Given the description of an element on the screen output the (x, y) to click on. 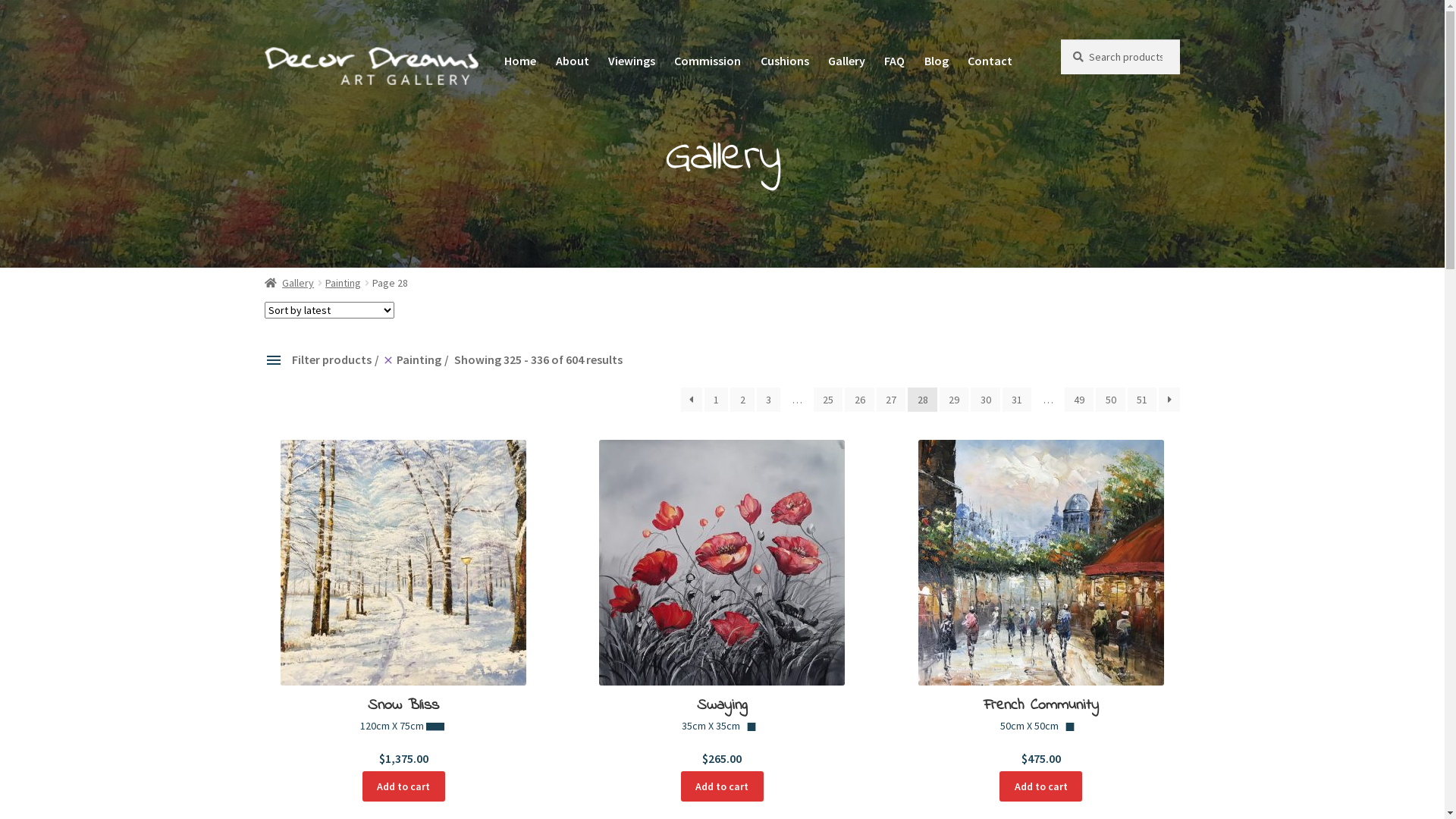
27 Element type: text (891, 399)
30 Element type: text (985, 399)
Add to cart Element type: text (1040, 786)
Contact Element type: text (989, 61)
29 Element type: text (954, 399)
Gallery Element type: text (846, 61)
49 Element type: text (1079, 399)
1 Element type: text (716, 399)
Painting Element type: text (342, 282)
51 Element type: text (1142, 399)
Home Element type: text (519, 61)
FAQ Element type: text (894, 61)
3 Element type: text (768, 399)
Add to cart Element type: text (722, 786)
Swaying
35cm X 35cm
$265.00 Element type: text (722, 603)
Gallery Element type: text (289, 282)
Snow Bliss
120cm X 75cm
$1,375.00 Element type: text (403, 603)
2 Element type: text (742, 399)
Commission Element type: text (707, 61)
26 Element type: text (859, 399)
About Element type: text (571, 61)
Cushions Element type: text (784, 61)
50 Element type: text (1110, 399)
Blog Element type: text (936, 61)
25 Element type: text (828, 399)
31 Element type: text (1017, 399)
Search Element type: text (1060, 38)
Add to cart Element type: text (403, 786)
French Community
50cm X 50cm
$475.00 Element type: text (1040, 603)
Viewings Element type: text (631, 61)
